Given the description of an element on the screen output the (x, y) to click on. 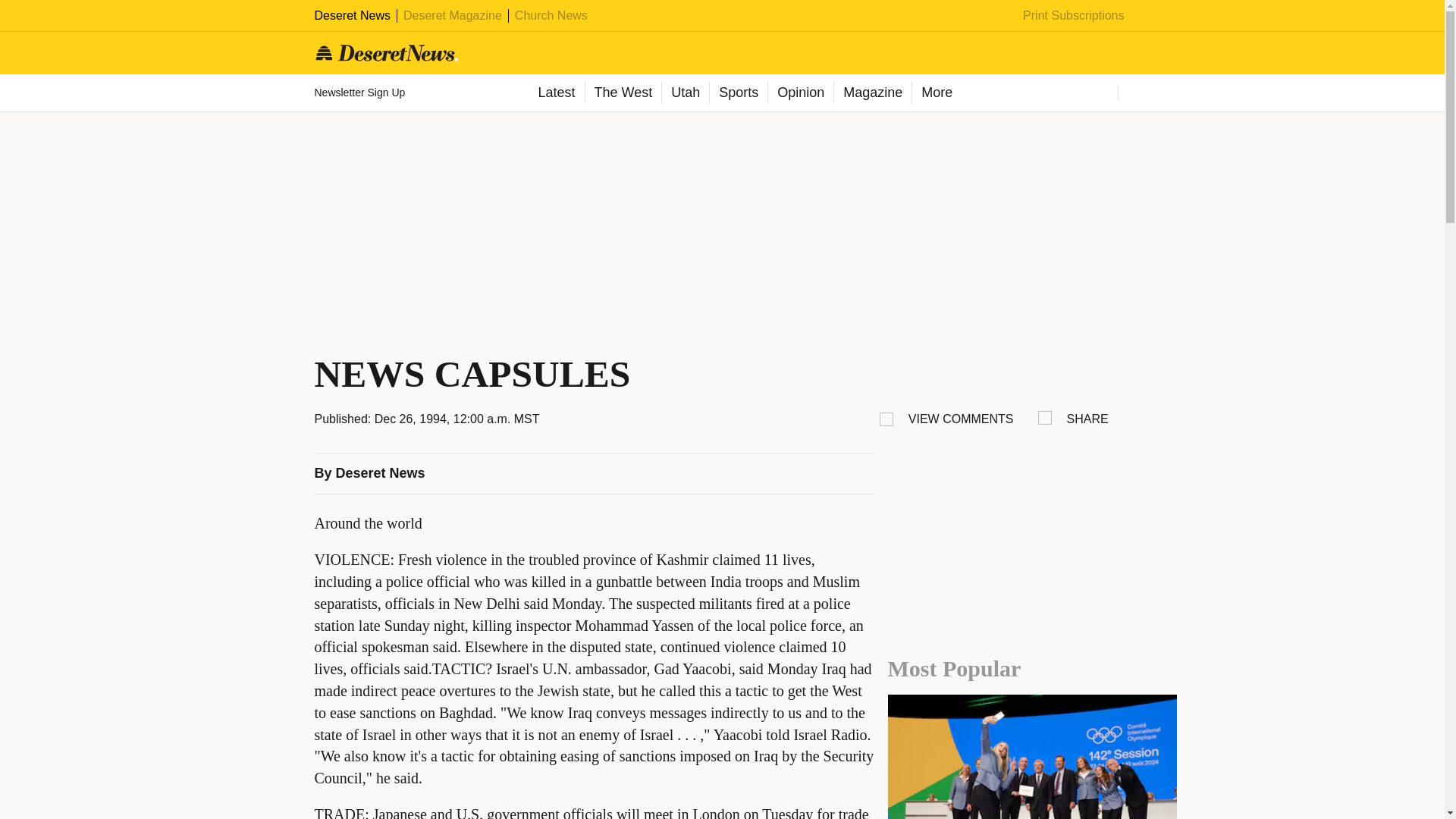
The West (622, 92)
Sports (738, 92)
Deseret News (352, 15)
Latest (555, 92)
Deseret Magazine (452, 15)
Opinion (799, 92)
Print Subscriptions (1073, 15)
Deseret News (380, 473)
Newsletter Sign Up (361, 92)
Utah (685, 92)
Church News (551, 15)
Magazine (871, 92)
